Given the description of an element on the screen output the (x, y) to click on. 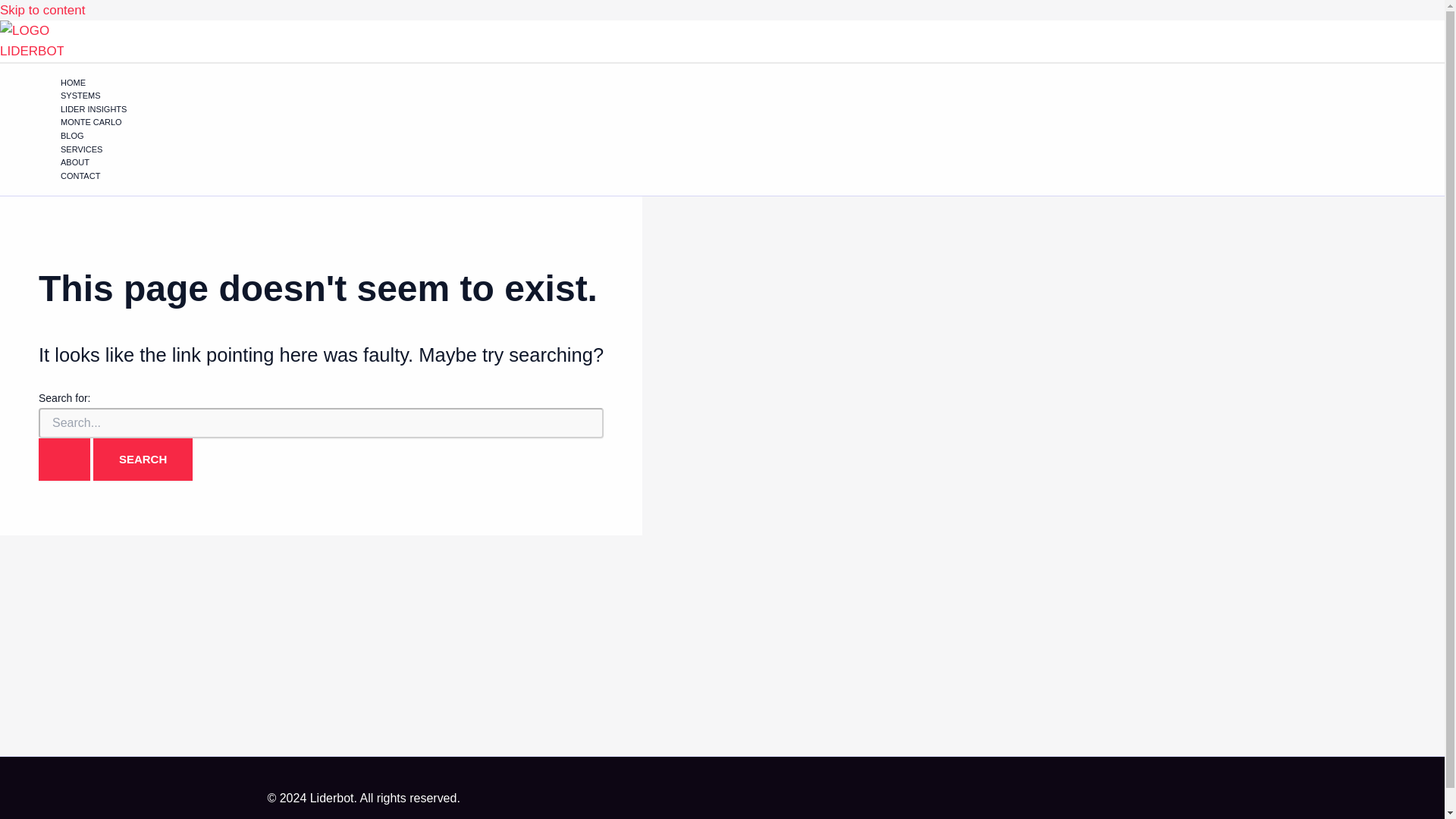
SERVICES (106, 150)
HOME (106, 83)
ABOUT (106, 162)
Skip to content (42, 10)
BLOG (106, 136)
MONTE CARLO (106, 122)
Skip to content (42, 10)
Search (142, 459)
CONTACT (106, 176)
SYSTEMS (106, 96)
